Given the description of an element on the screen output the (x, y) to click on. 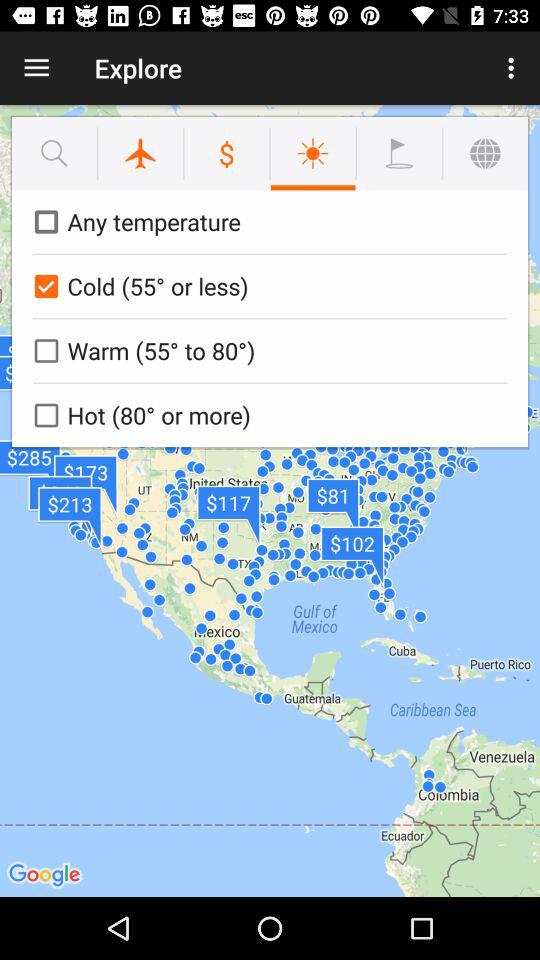
flip until the cold 55 or item (266, 286)
